Given the description of an element on the screen output the (x, y) to click on. 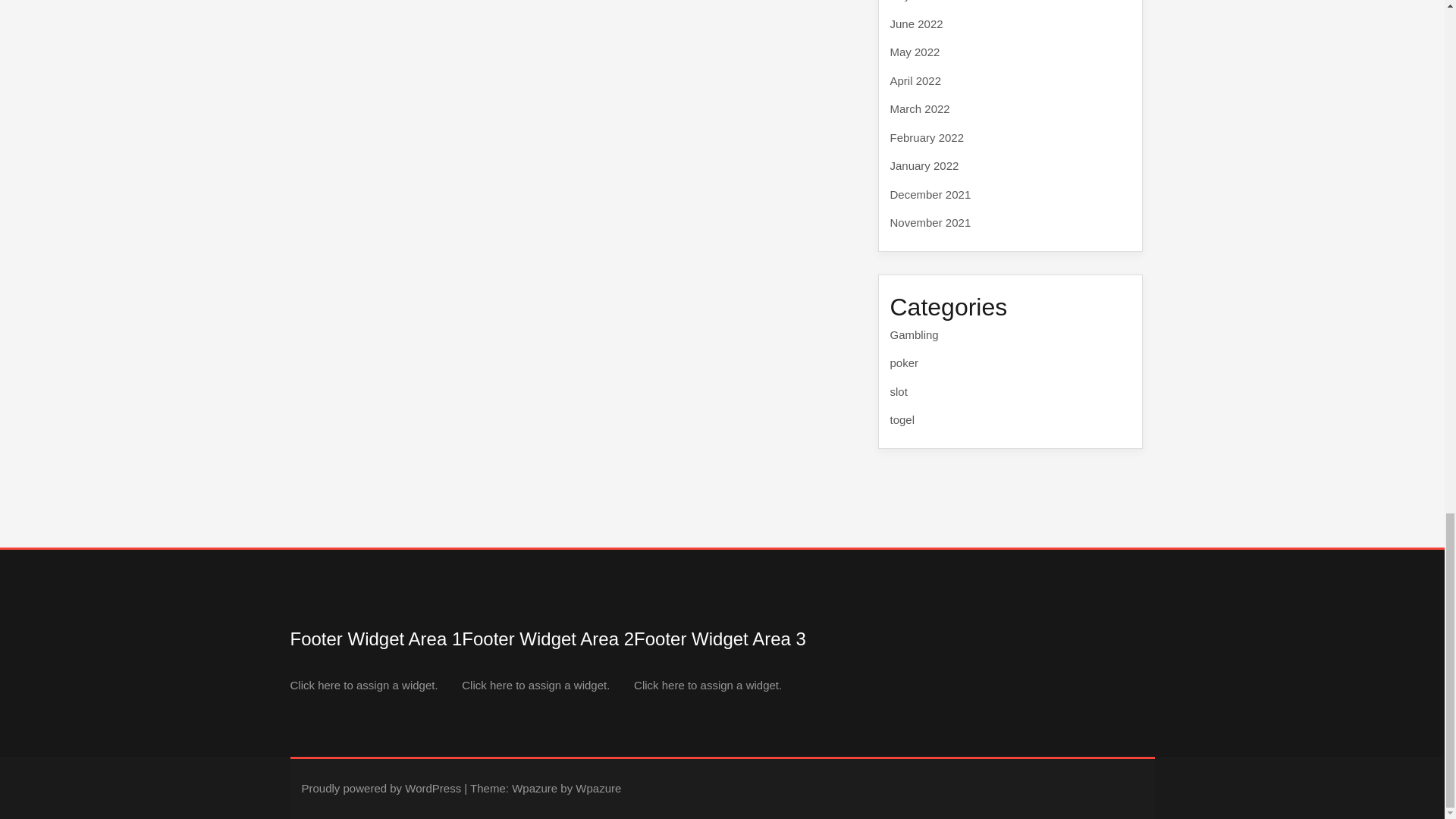
June 2022 (916, 23)
May 2022 (914, 51)
April 2022 (915, 79)
July 2022 (914, 0)
